Given the description of an element on the screen output the (x, y) to click on. 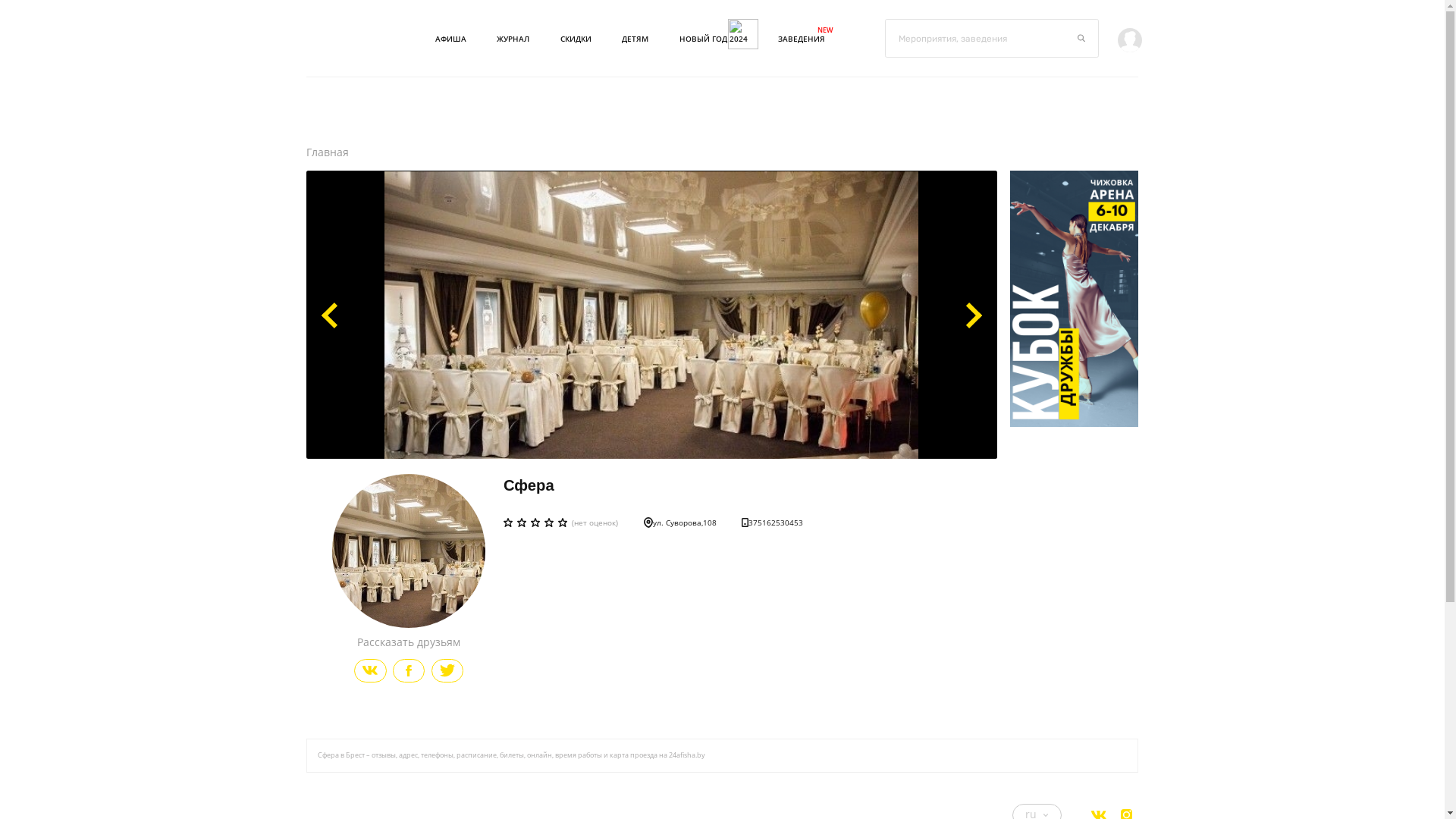
375162530453 Element type: text (772, 522)
